Given the description of an element on the screen output the (x, y) to click on. 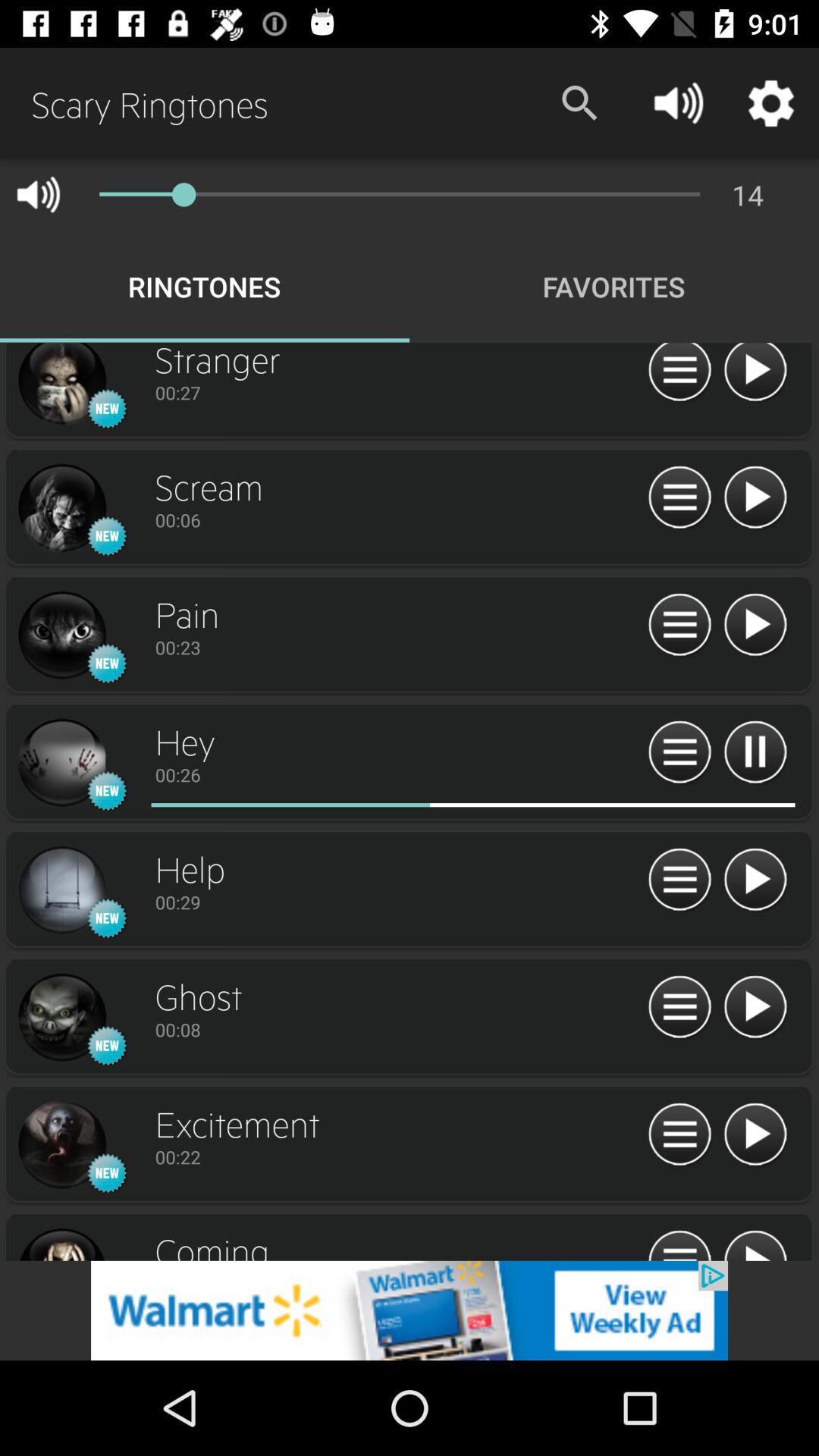
select line (61, 635)
